Given the description of an element on the screen output the (x, y) to click on. 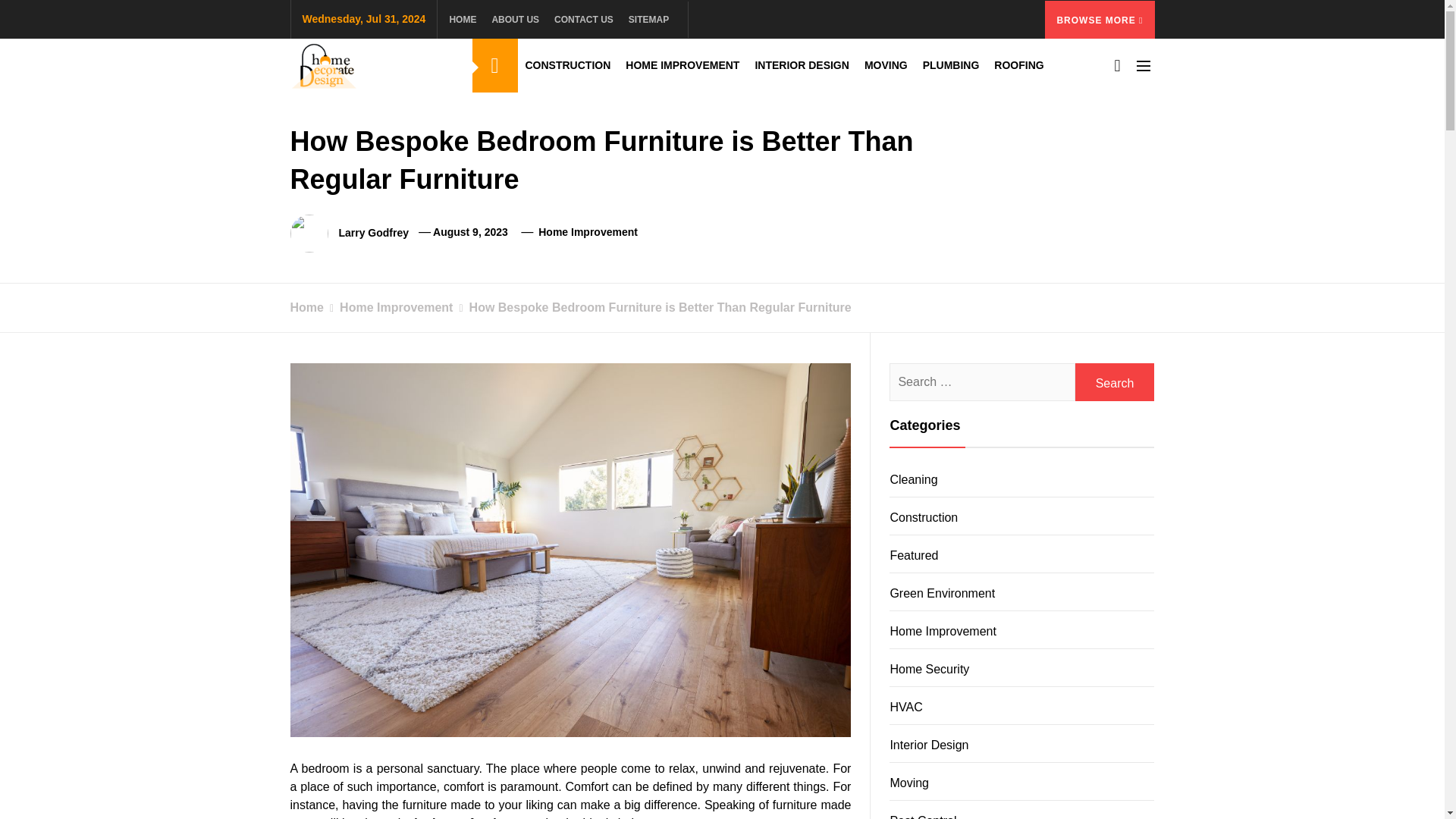
ABOUT US (515, 18)
Home (306, 307)
Search (1114, 382)
CONSTRUCTION (566, 65)
August 9, 2023 (470, 232)
Home Decorate Design (445, 105)
MOVING (886, 65)
Larry Godfrey (373, 232)
Home Improvement (387, 307)
HOME (465, 18)
BROWSE MORE (1099, 18)
Search (1114, 382)
Home Improvement (587, 232)
INTERIOR DESIGN (801, 65)
